Given the description of an element on the screen output the (x, y) to click on. 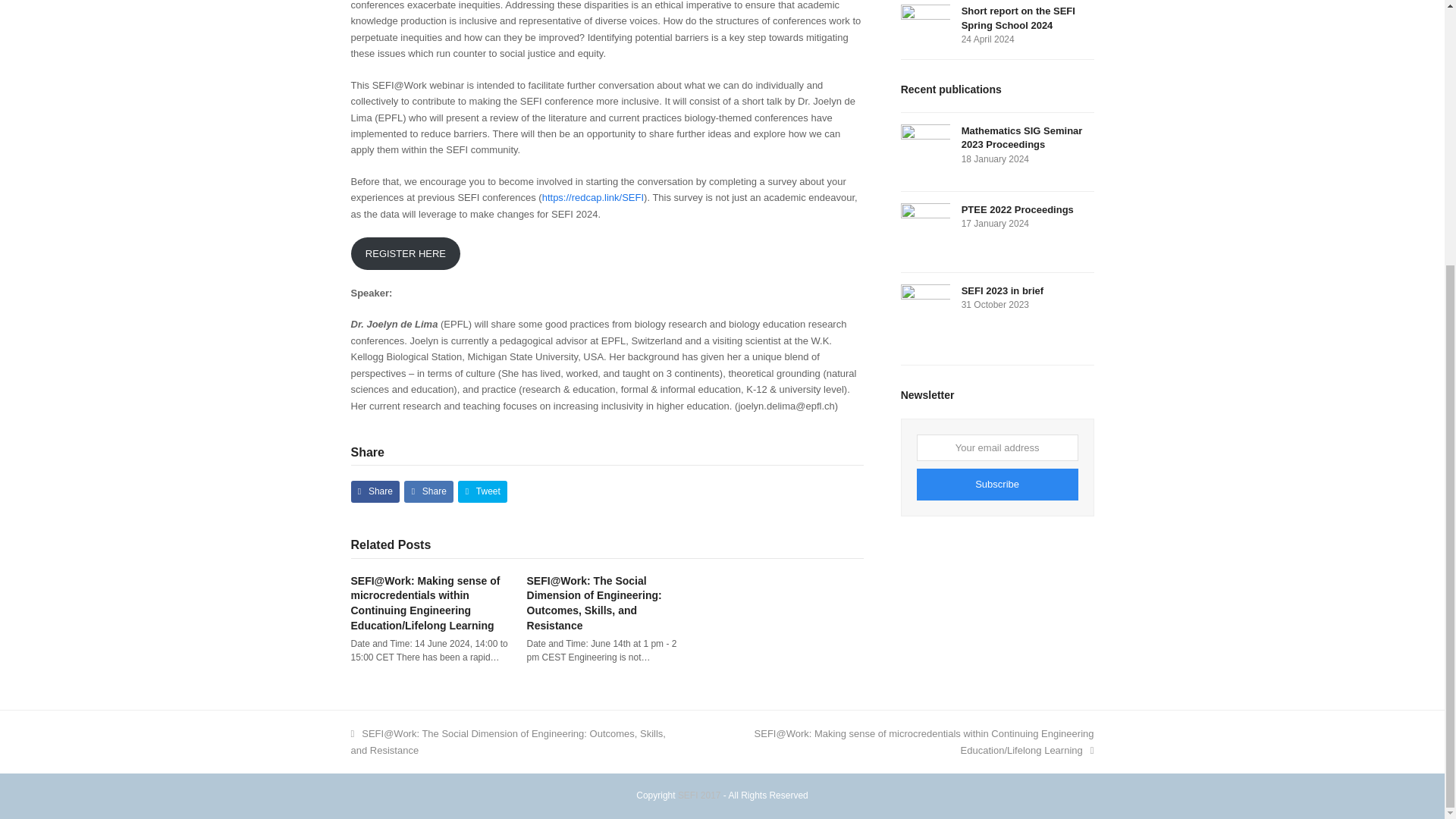
REGISTER HERE (405, 253)
Share (428, 491)
Share (374, 491)
Tweet (482, 491)
